Given the description of an element on the screen output the (x, y) to click on. 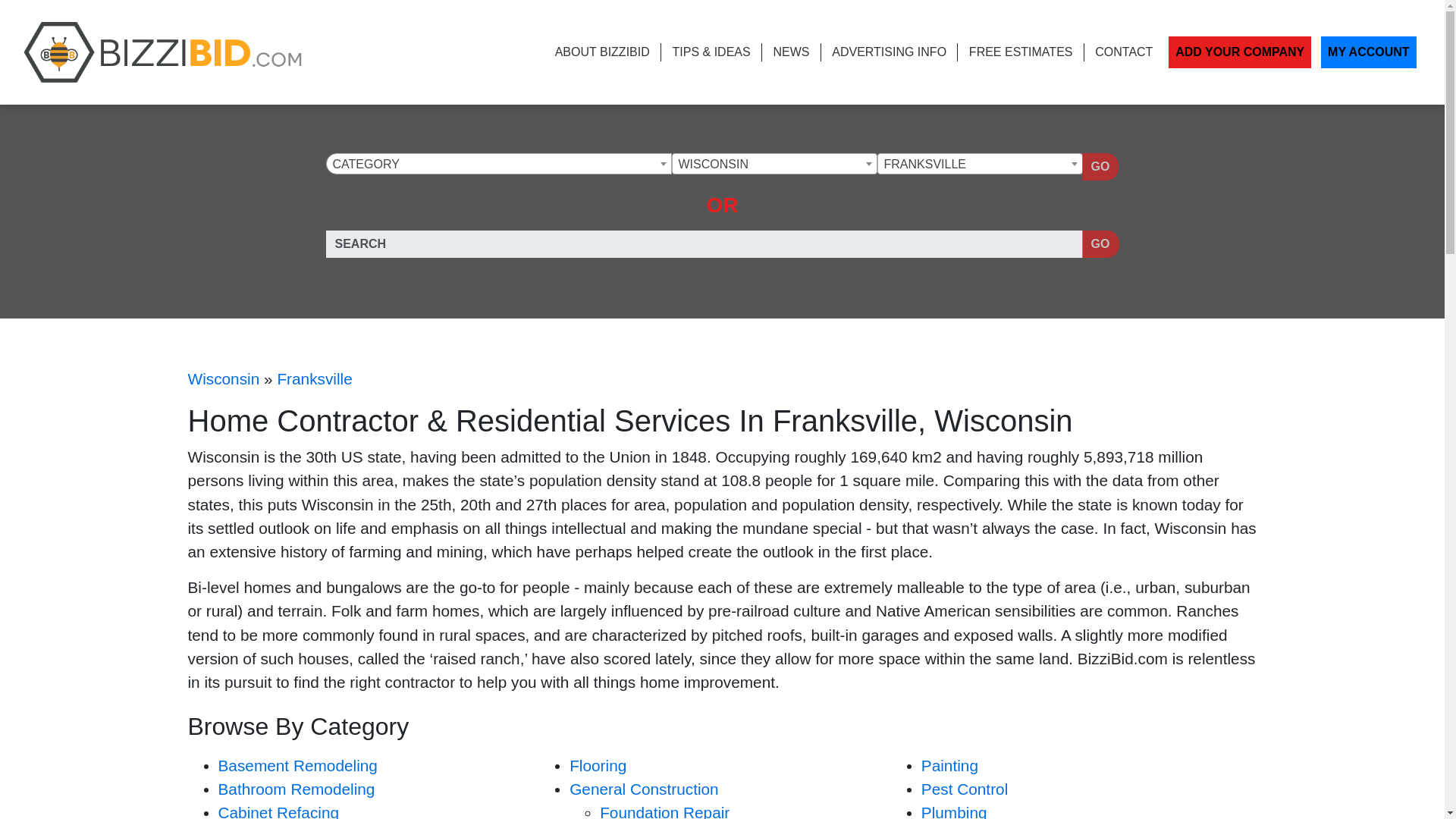
Bathroom Remodeling (296, 788)
ADD YOUR COMPANY (1240, 51)
GO (1099, 166)
GO (1100, 243)
Wisconsin (223, 378)
ABOUT BIZZIBID (602, 52)
CONTACT (1123, 52)
NEWS (791, 52)
ADVERTISING INFO (888, 52)
Category (497, 164)
Basement Remodeling (297, 764)
MY ACCOUNT (1368, 51)
FREE ESTIMATES (1020, 52)
Franksville (979, 164)
Franksville (314, 378)
